Given the description of an element on the screen output the (x, y) to click on. 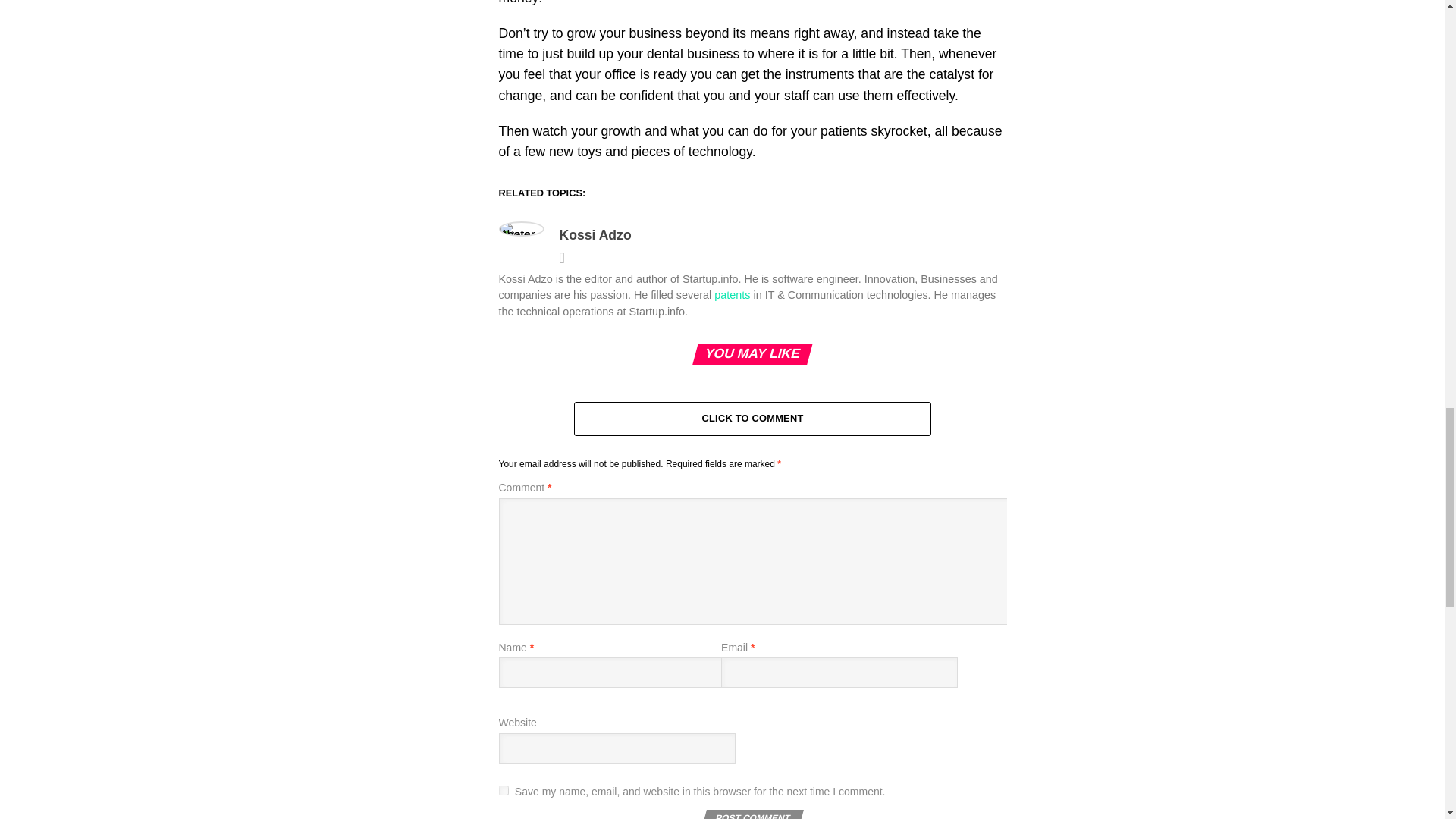
Post Comment (750, 814)
yes (503, 790)
